Given the description of an element on the screen output the (x, y) to click on. 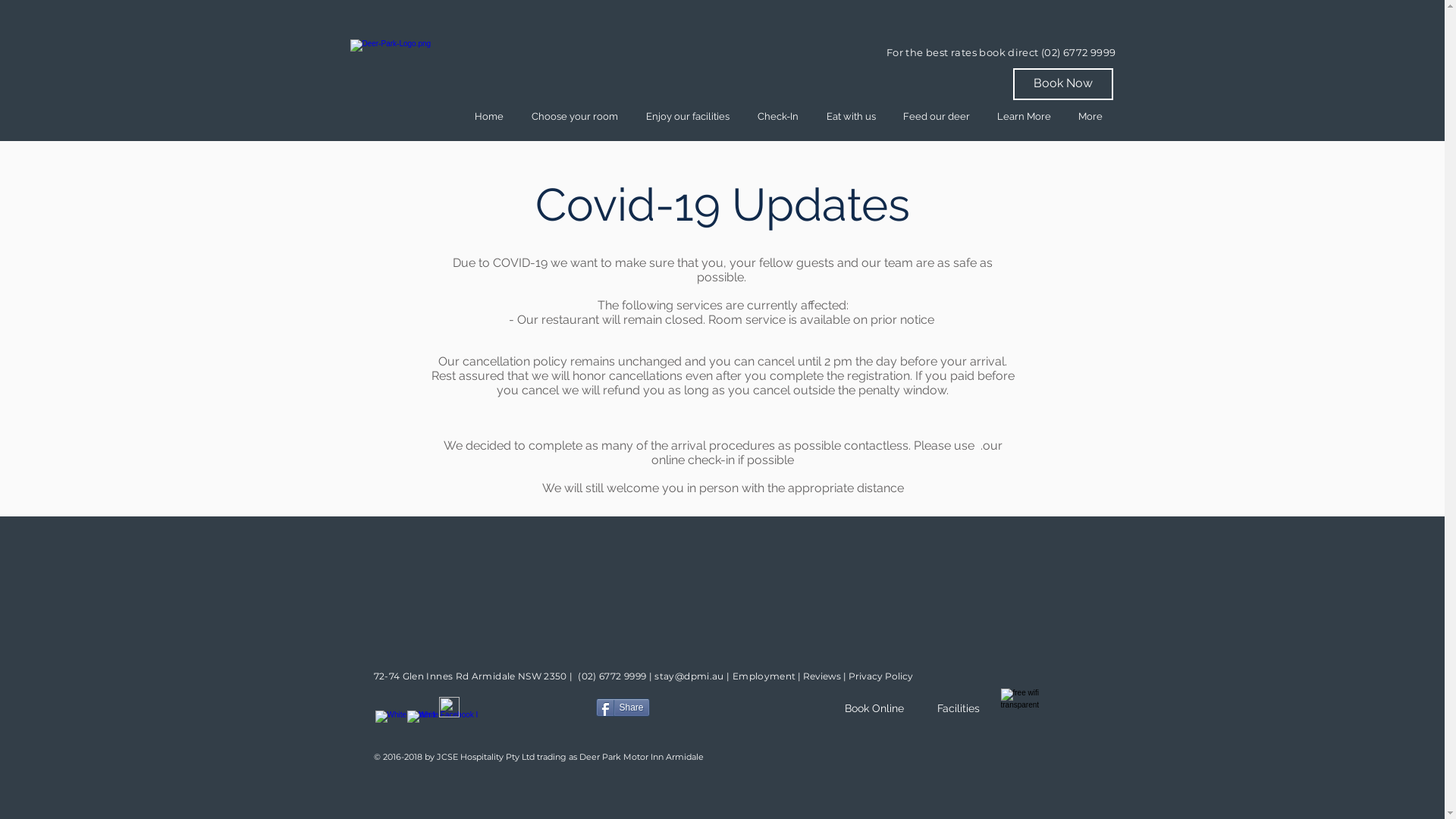
Home Element type: text (489, 116)
Embedded Content Element type: hover (525, 712)
Feed our deer Element type: text (935, 116)
Book Now Element type: text (1063, 84)
Share Element type: text (622, 707)
Reviews Element type: text (821, 675)
Choose your room Element type: text (574, 116)
Check-In Element type: text (777, 116)
Enjoy our facilities Element type: text (687, 116)
Eat with us Element type: text (850, 116)
Twitter Tweet Element type: hover (705, 707)
Book Online Element type: text (873, 708)
Facilities Element type: text (958, 708)
@dpmi.au Element type: text (699, 675)
(02) 6772 9999 Element type: text (1078, 52)
Employment Element type: text (764, 675)
(02) 6772 9999 Element type: text (611, 675)
Privacy Policy Element type: text (880, 676)
